Given the description of an element on the screen output the (x, y) to click on. 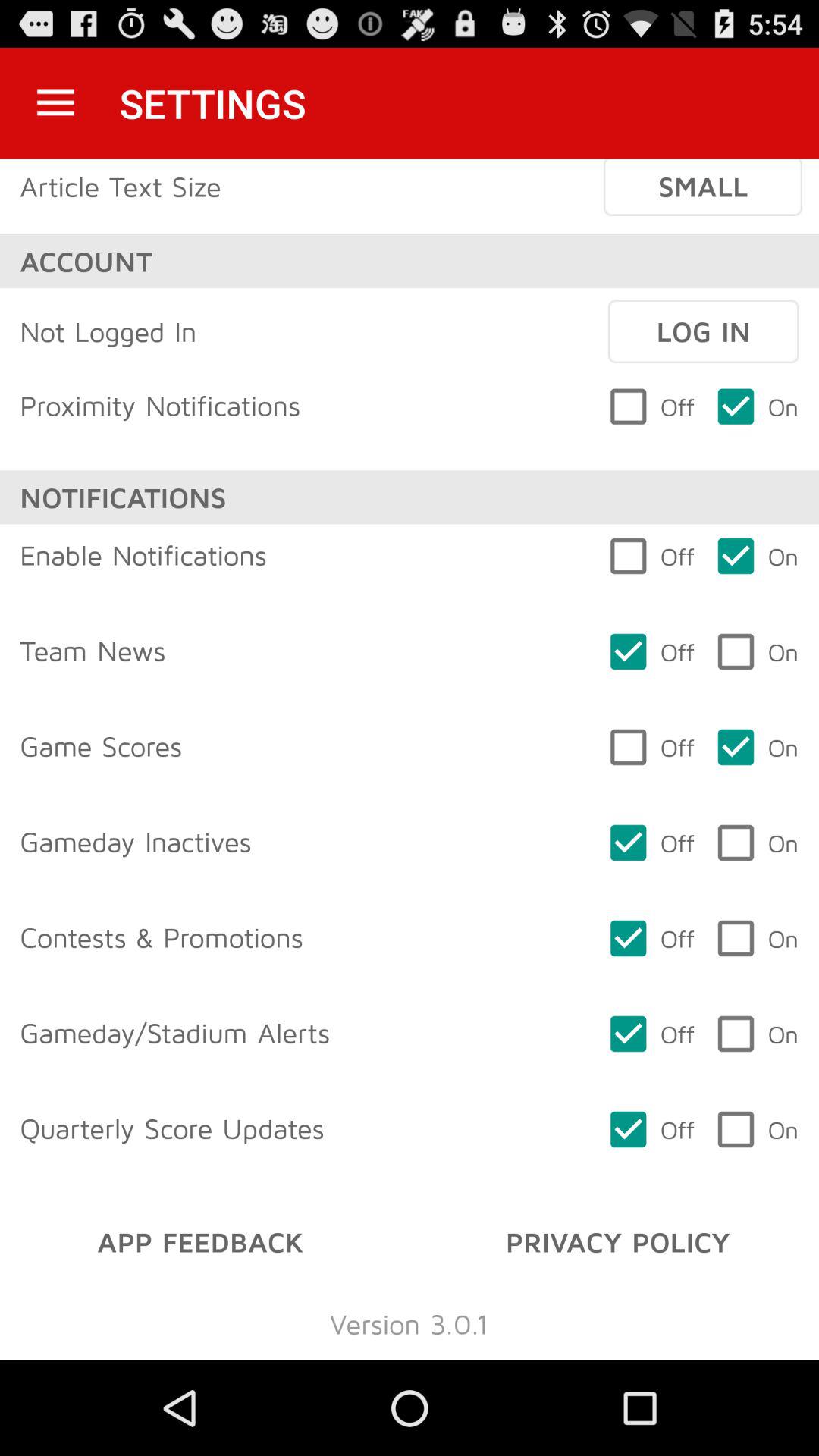
select icon above the article text size item (55, 103)
